Given the description of an element on the screen output the (x, y) to click on. 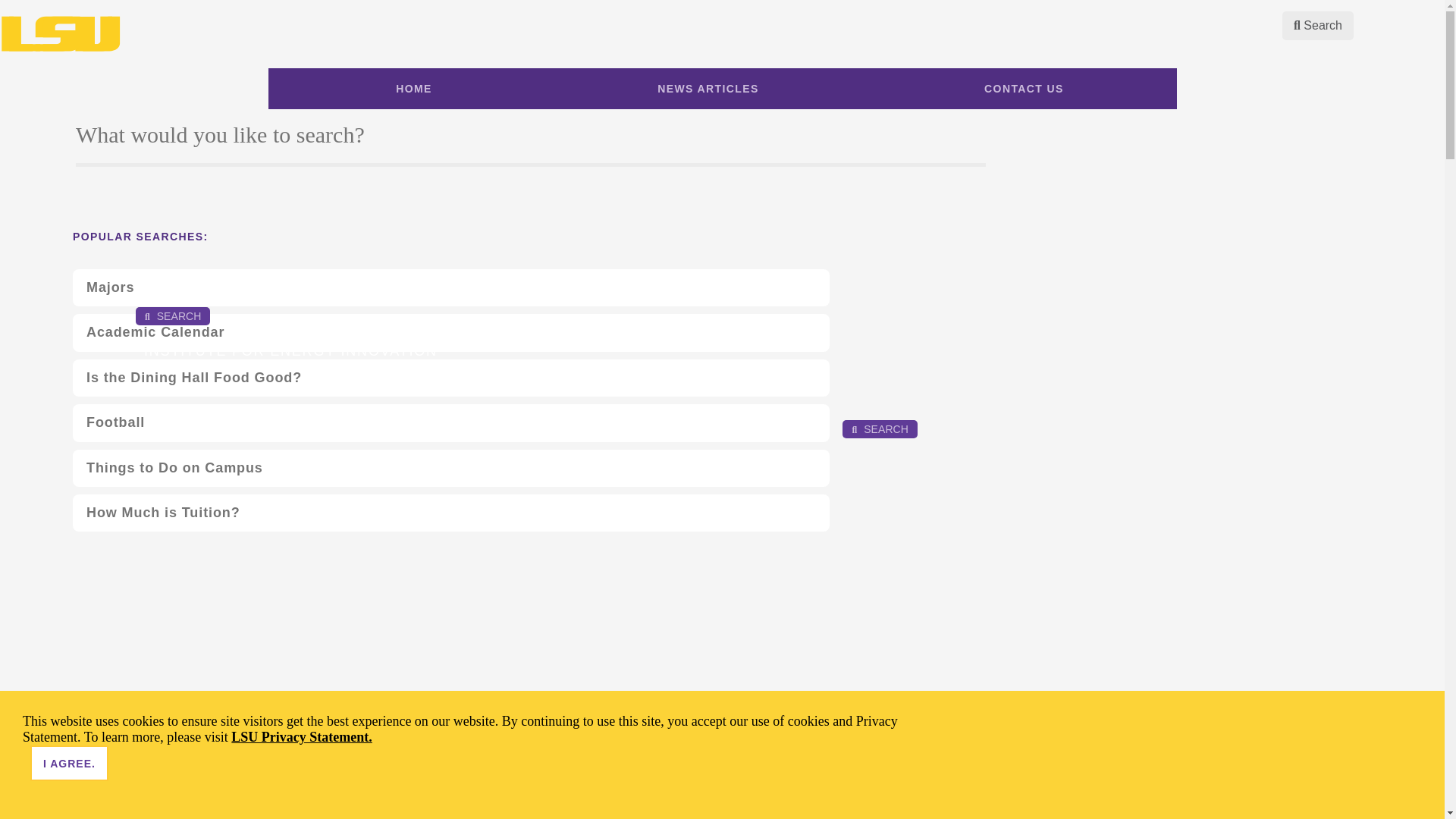
CONTACT US (1023, 87)
APPLY (789, 425)
SEARCH (880, 429)
Visit giveLSU.org (146, 252)
LSU Institute for Energy Innovation (105, 500)
MYLSU (633, 425)
VISIT (198, 252)
NEWS ARTICLES (707, 87)
HOME (413, 87)
Home (25, 487)
INSTITUTE FOR ENERGY INNOVATION (291, 350)
APPLY (172, 252)
SEARCH (173, 316)
CAMPUS CRIME STATS (83, 252)
GIVE (146, 252)
